Given the description of an element on the screen output the (x, y) to click on. 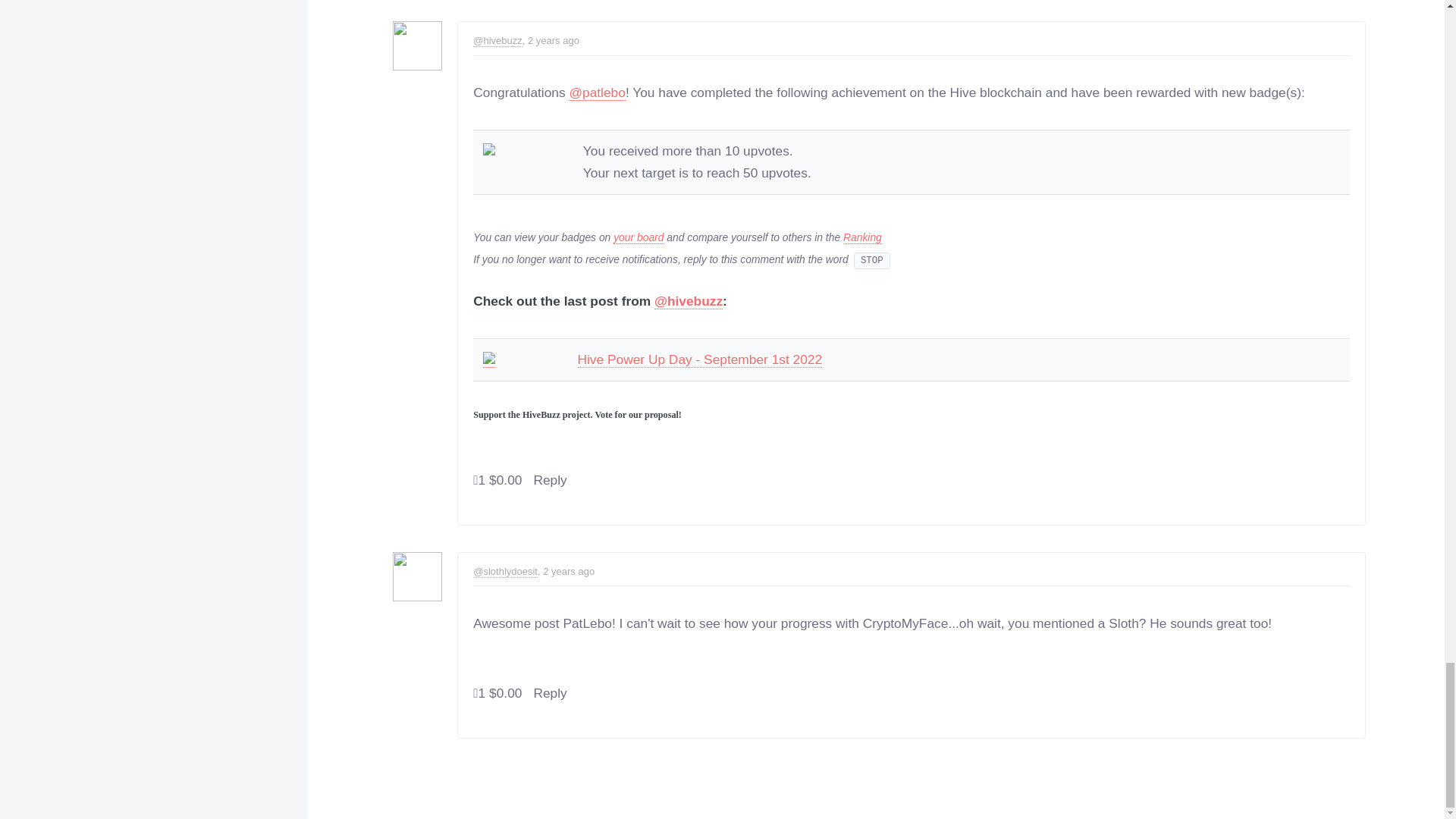
Vote! (475, 693)
Ranking (862, 237)
29 August 2022, 12:54:57 (550, 40)
29 August 2022, 4:45:57 (565, 571)
Hive Power Up Day - September 1st 2022 (700, 359)
Vote! (475, 480)
your board (637, 237)
